Given the description of an element on the screen output the (x, y) to click on. 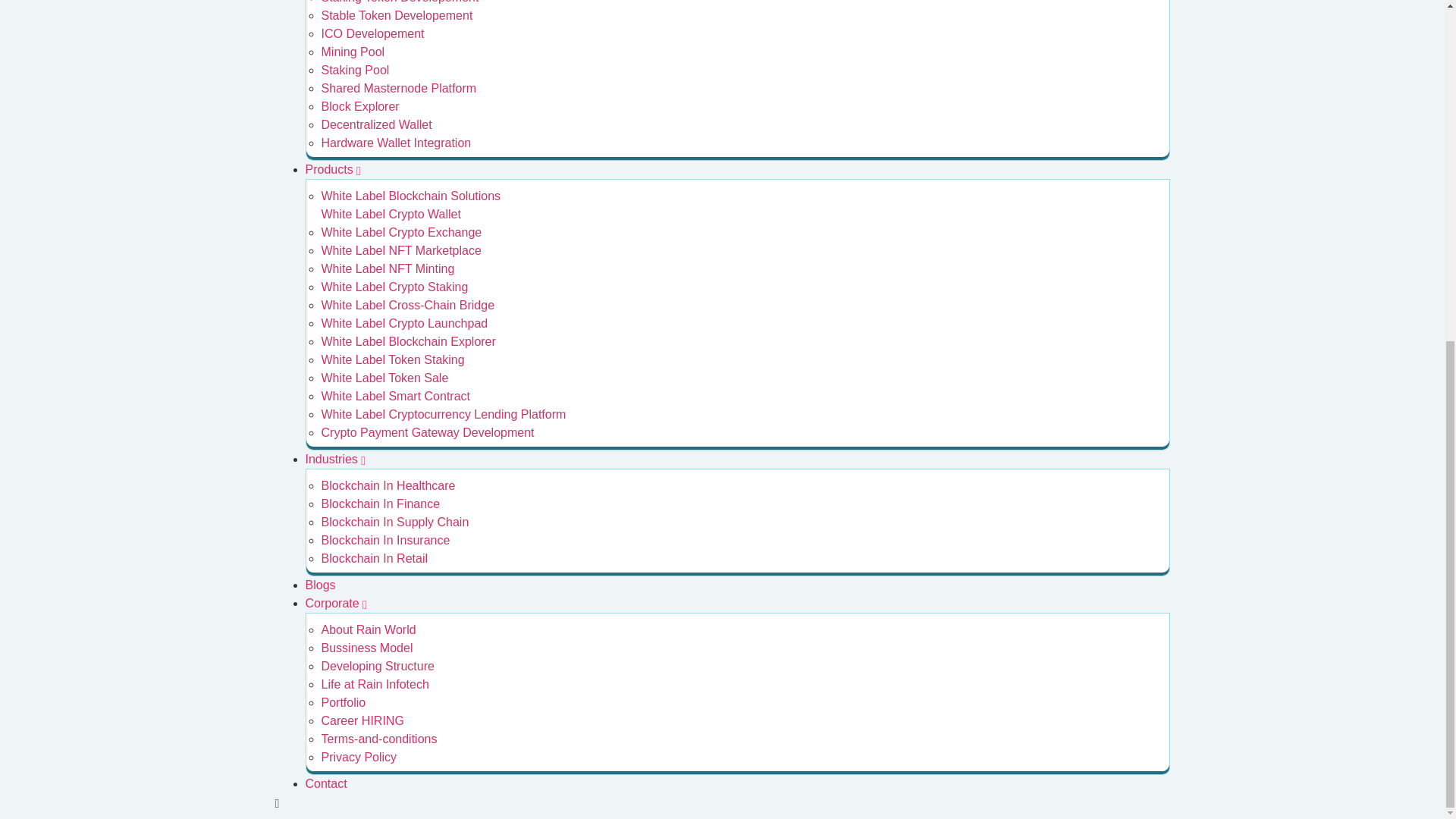
White Label Crypto Exchange (401, 232)
White Label Blockchain Solutions (410, 195)
Staking Token Developement (400, 2)
Block Explorer (359, 106)
White Label NFT Marketplace (401, 250)
Decentralized Wallet (376, 124)
Shared Masternode Platform (399, 88)
Staking Pool (355, 69)
White Label Crypto Launchpad (404, 323)
White Label Crypto Staking (394, 286)
